Given the description of an element on the screen output the (x, y) to click on. 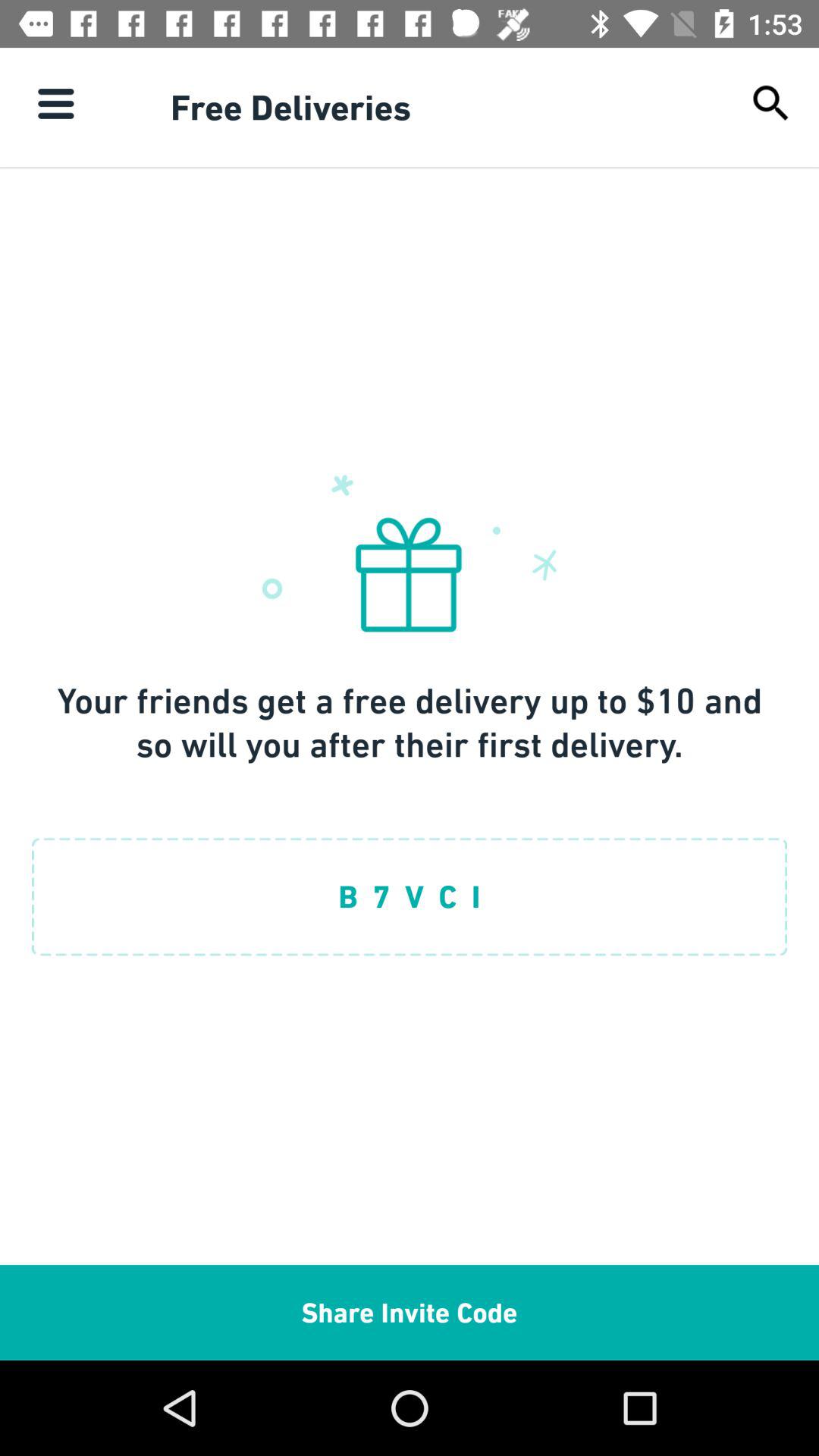
launch icon above your friends get (771, 103)
